Given the description of an element on the screen output the (x, y) to click on. 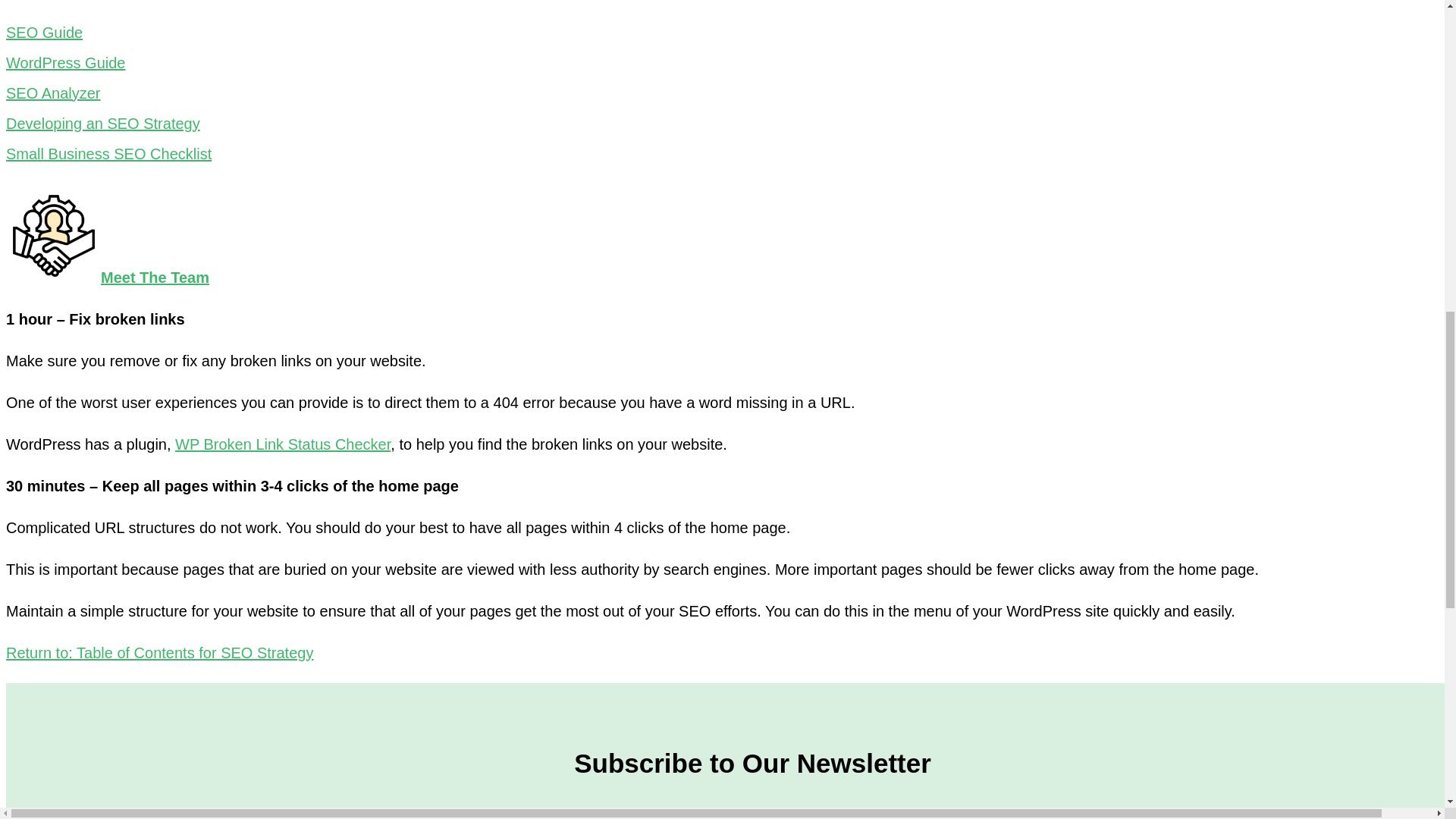
Return to: Table of Contents for SEO Strategy (159, 652)
WordPress Guide (65, 62)
Developing an SEO Strategy (102, 123)
SEO Mechanic Team (107, 276)
Meet The Team (107, 276)
Small Business SEO Checklist (108, 153)
Return to: Table of Contents for Developing an SEO Strategy (159, 652)
SEO Analyzer (52, 93)
WP Broken Link Status Checker (282, 443)
SEO Guide (43, 32)
